Given the description of an element on the screen output the (x, y) to click on. 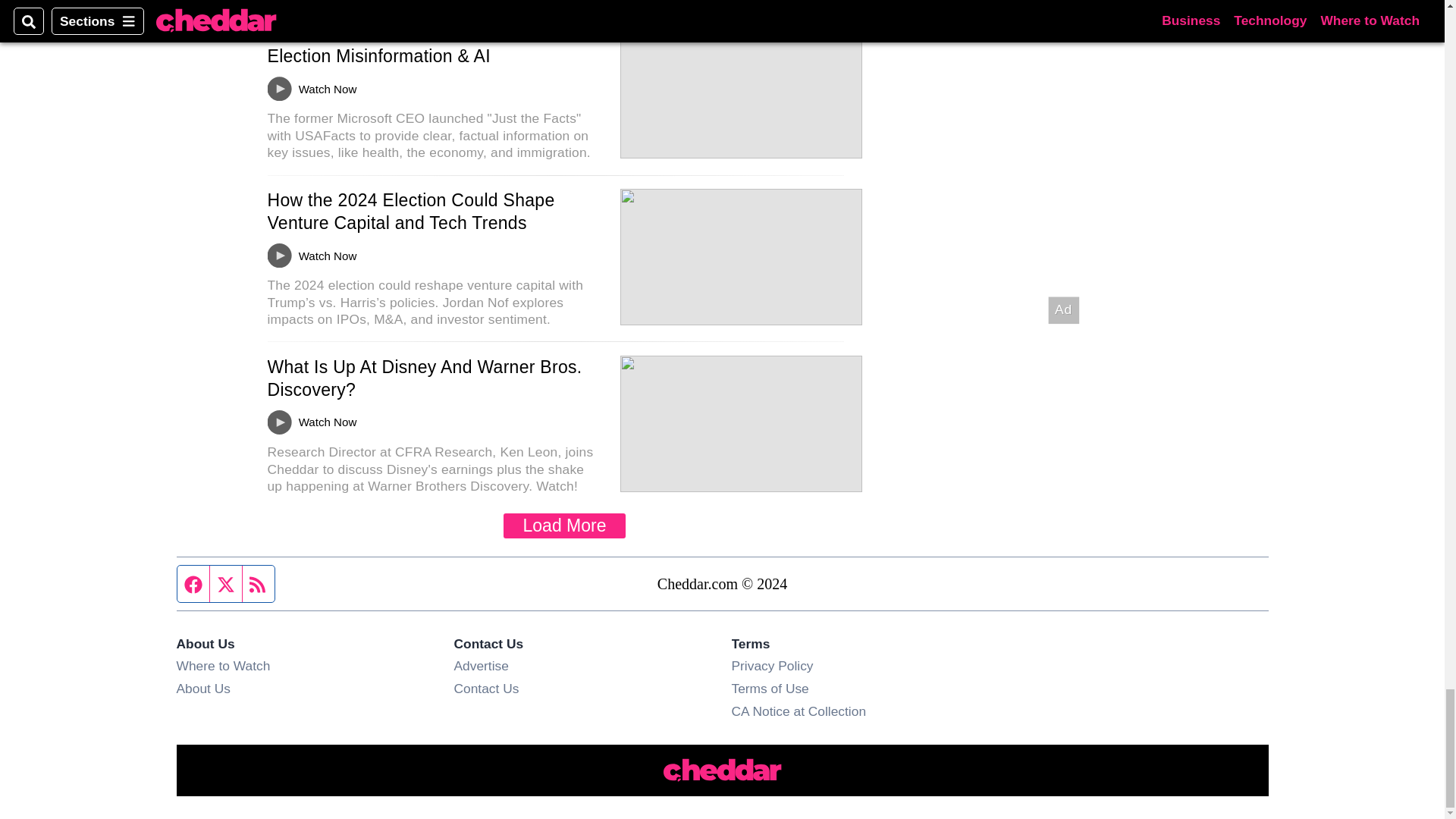
Load More (564, 525)
What Is Up At Disney And Warner Bros. Discovery? (423, 378)
